Given the description of an element on the screen output the (x, y) to click on. 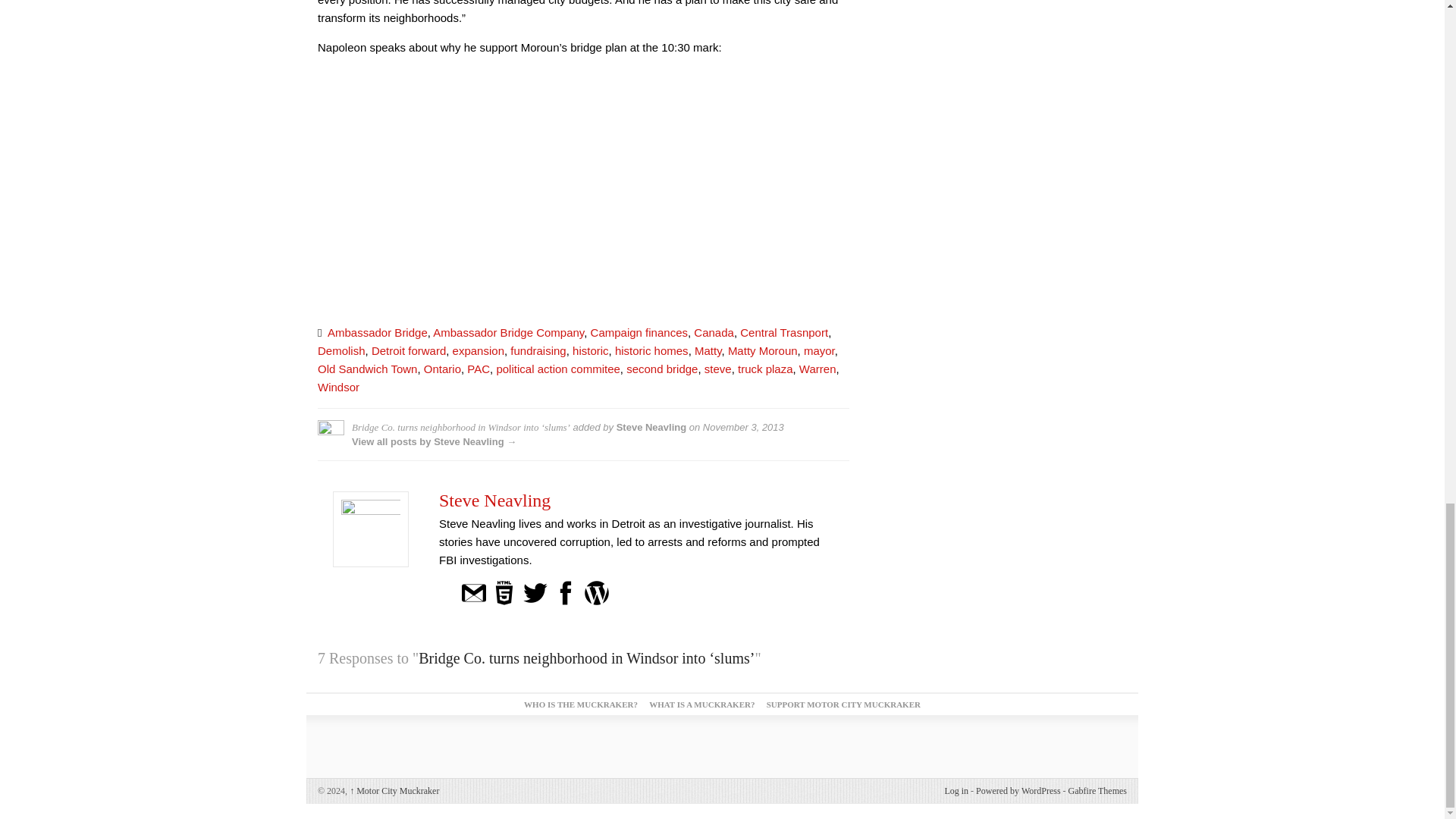
Central Trasnport (783, 332)
Steve Neavling (494, 500)
Ambassador Bridge (377, 332)
Canada (713, 332)
Steve Neavling On The Web (504, 591)
Ambassador Bridge Company (507, 332)
Send Steve Neavling Mail (473, 591)
Steve Neavling On Twitter (534, 591)
Campaign finances (639, 332)
